Given the description of an element on the screen output the (x, y) to click on. 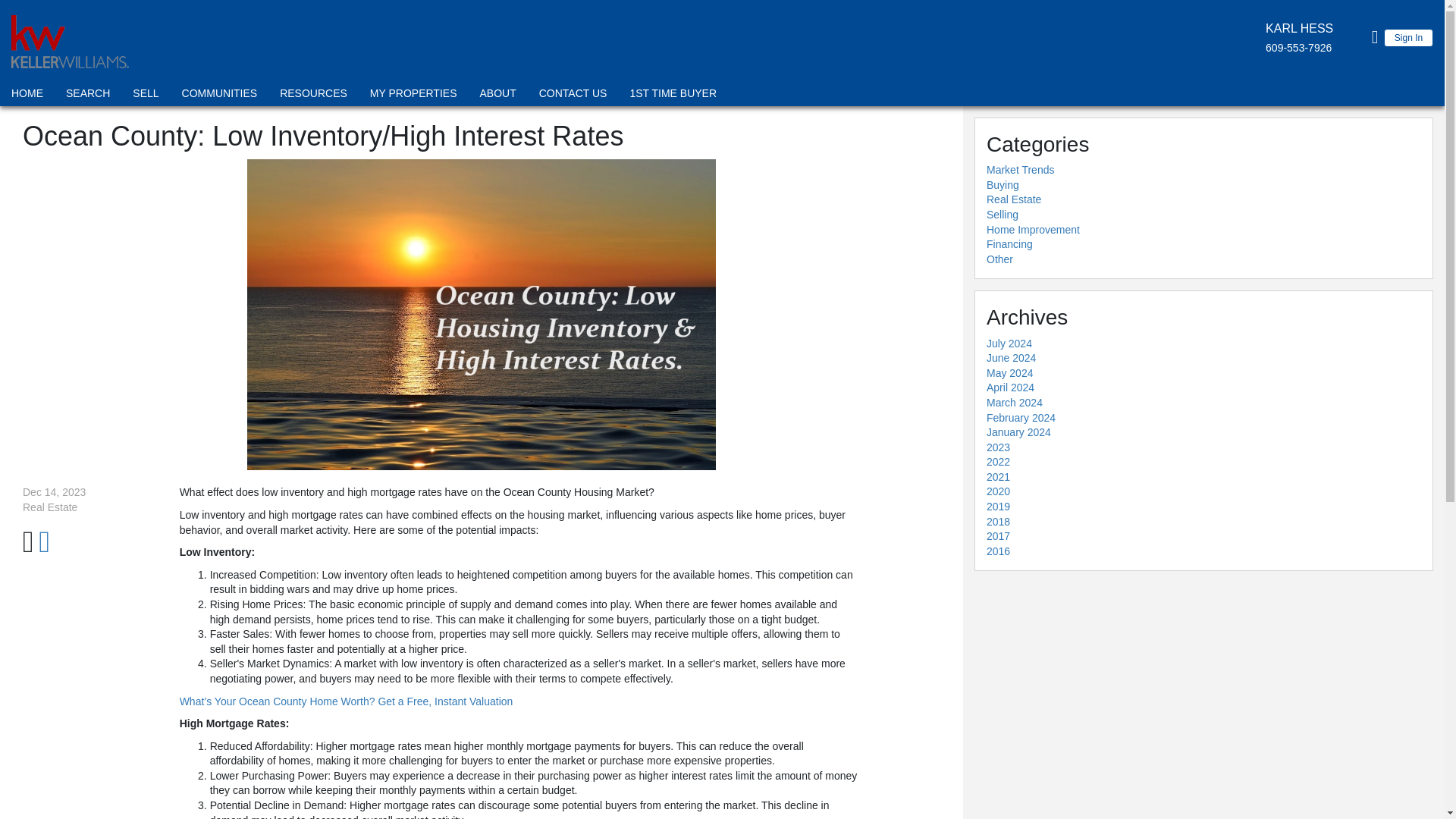
May 2024 (1009, 372)
April 2024 (1010, 387)
Real Estate (1014, 199)
Selling (1002, 214)
July 2024 (1009, 343)
MY PROPERTIES (413, 95)
Click here to sign in (1374, 36)
ABOUT (497, 95)
Sign In (1408, 37)
SEARCH (87, 95)
June 2024 (1011, 357)
Market Trends (1020, 169)
CONTACT US (573, 95)
COMMUNITIES (219, 95)
HOME (26, 95)
